Given the description of an element on the screen output the (x, y) to click on. 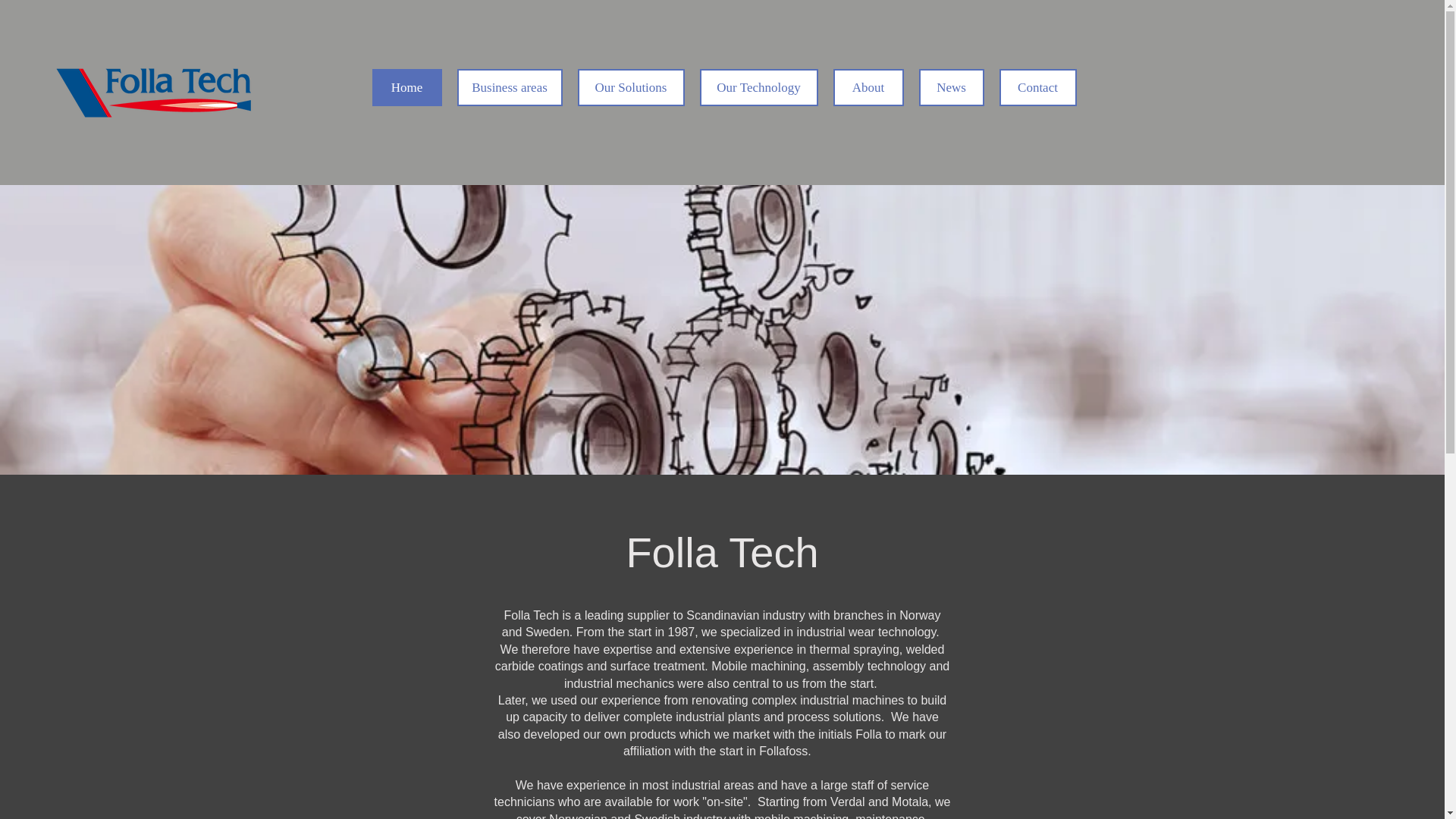
Home (406, 87)
Our Solutions (631, 87)
News (951, 87)
Contact (1037, 87)
Our Technology (757, 87)
About (867, 87)
Business areas (509, 87)
